Given the description of an element on the screen output the (x, y) to click on. 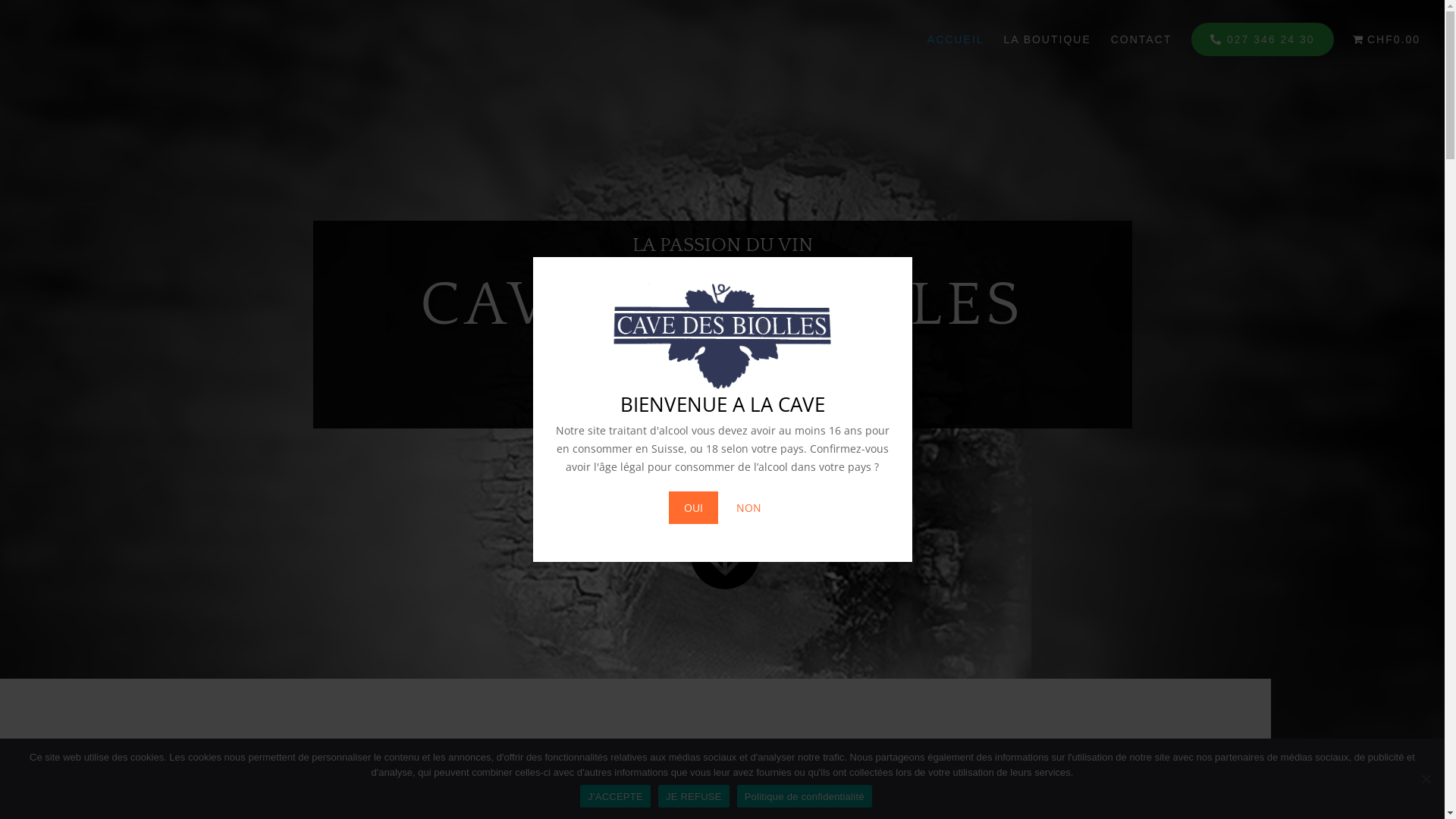
CHF0.00 Element type: text (1386, 50)
LA BOUTIQUE Element type: text (1046, 50)
JE REFUSE Element type: text (693, 795)
ACCUEIL Element type: text (955, 50)
027 346 24 30 Element type: text (1262, 39)
TOUS NOS VINS Element type: text (722, 472)
NON Element type: text (747, 507)
CONTACT Element type: text (1141, 50)
OUI Element type: text (693, 507)
JE REFUSE Element type: hover (1425, 778)
J'ACCEPTE Element type: text (615, 795)
